Given the description of an element on the screen output the (x, y) to click on. 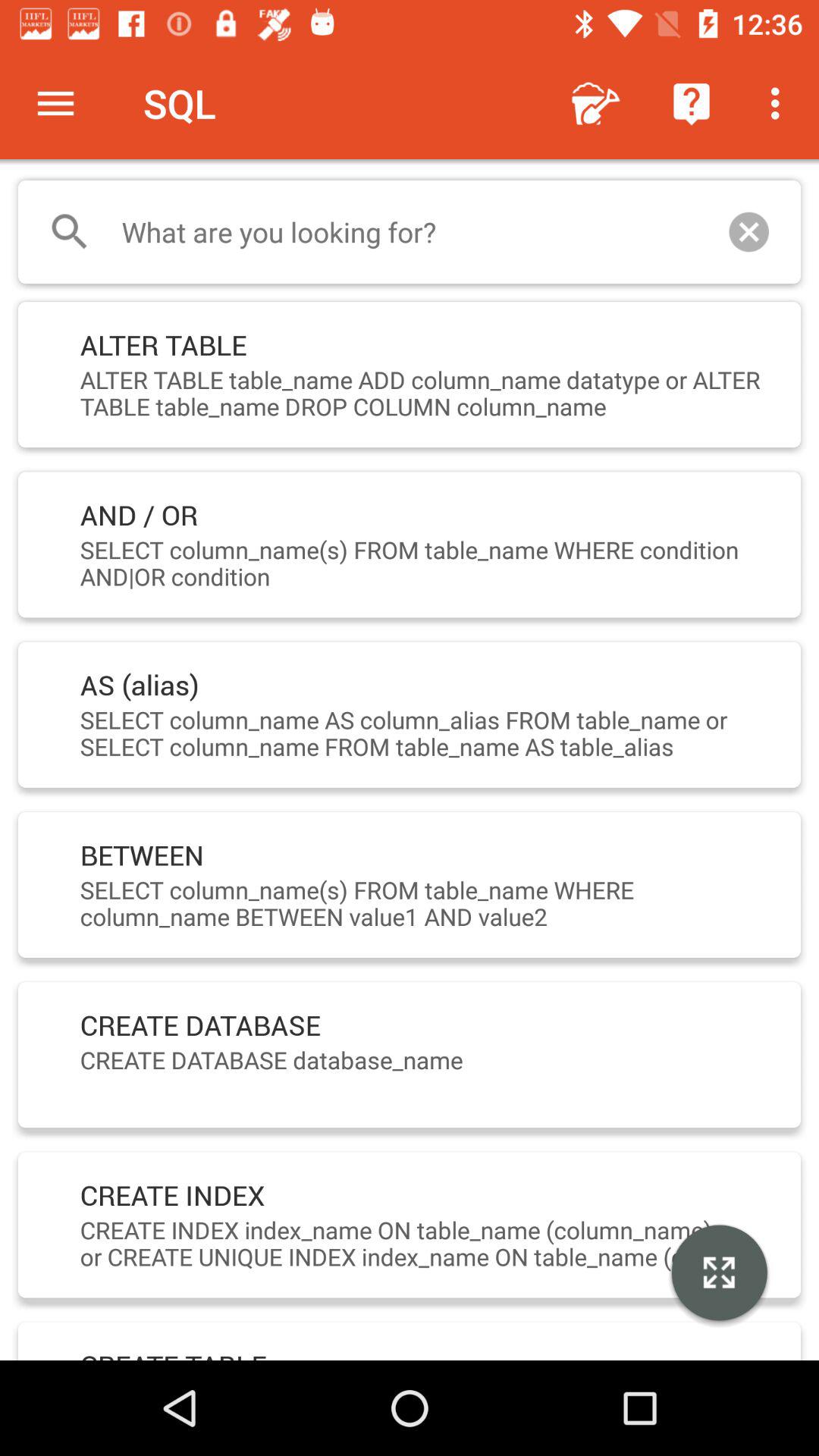
open icon to the right of the create index (719, 1274)
